Given the description of an element on the screen output the (x, y) to click on. 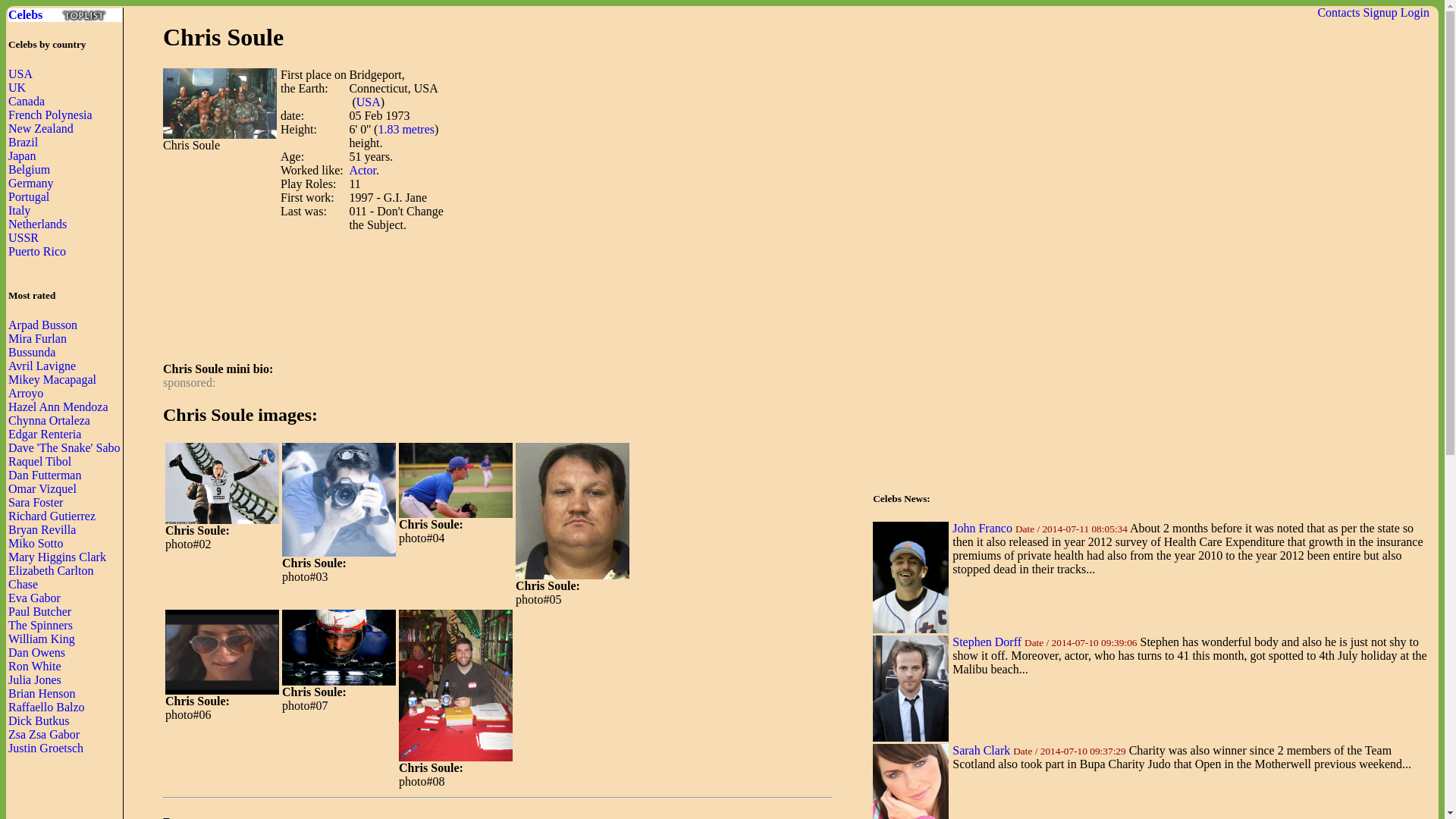
Bussunda (31, 351)
Avril Lavigne (41, 365)
Miko Sotto (35, 543)
Paul Butcher (39, 611)
Edgar Renteria (44, 433)
Raquel Tibol (39, 461)
Belgium (28, 169)
Germany (30, 182)
Advertisement (438, 314)
Sara Foster (35, 502)
Puerto Rico (36, 250)
Chris Soule (222, 483)
Mikey Macapagal Arroyo (52, 386)
USSR  (23, 237)
Japan (21, 155)
